Given the description of an element on the screen output the (x, y) to click on. 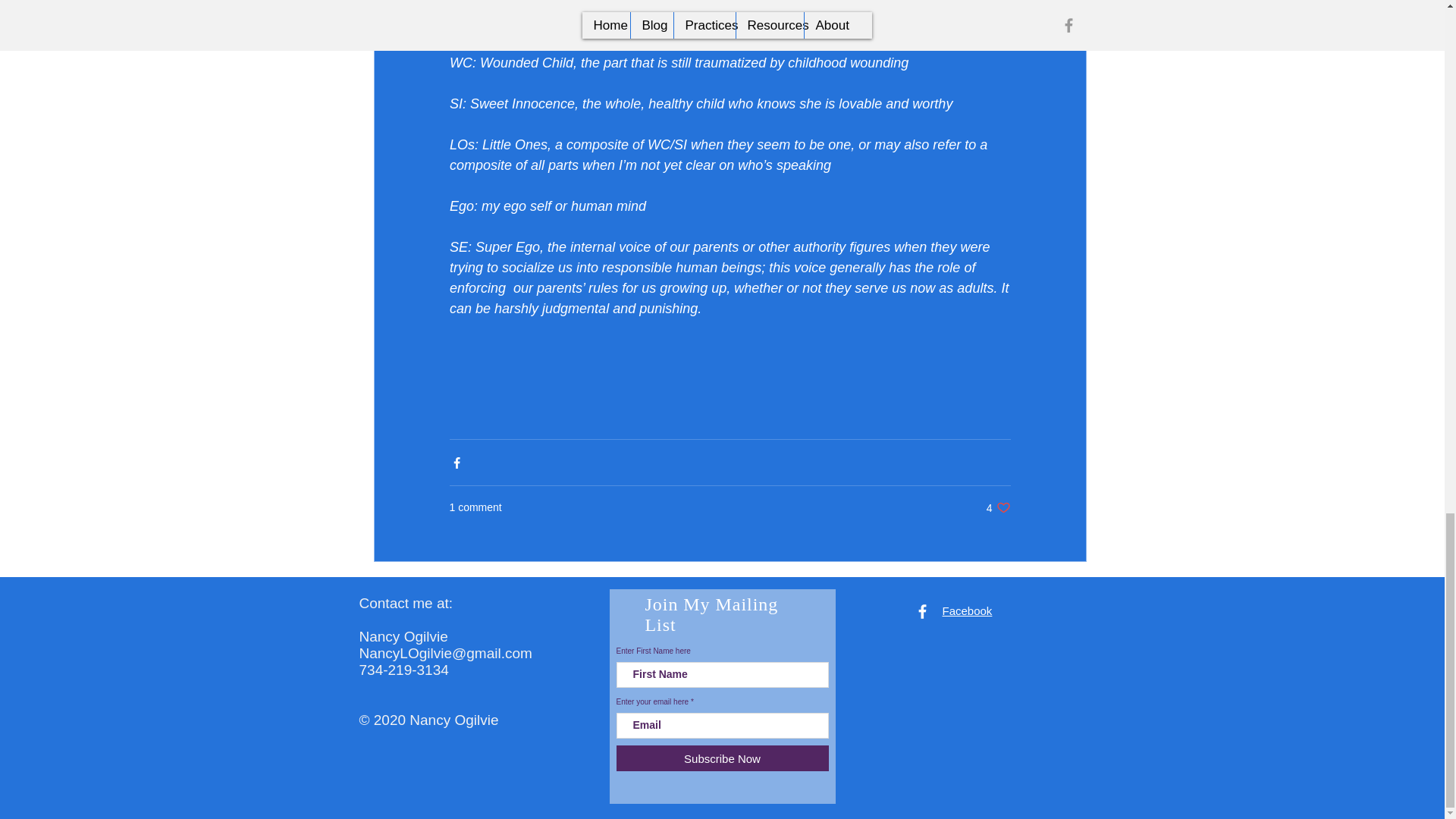
Facebook (966, 610)
Subscribe Now (998, 507)
